Given the description of an element on the screen output the (x, y) to click on. 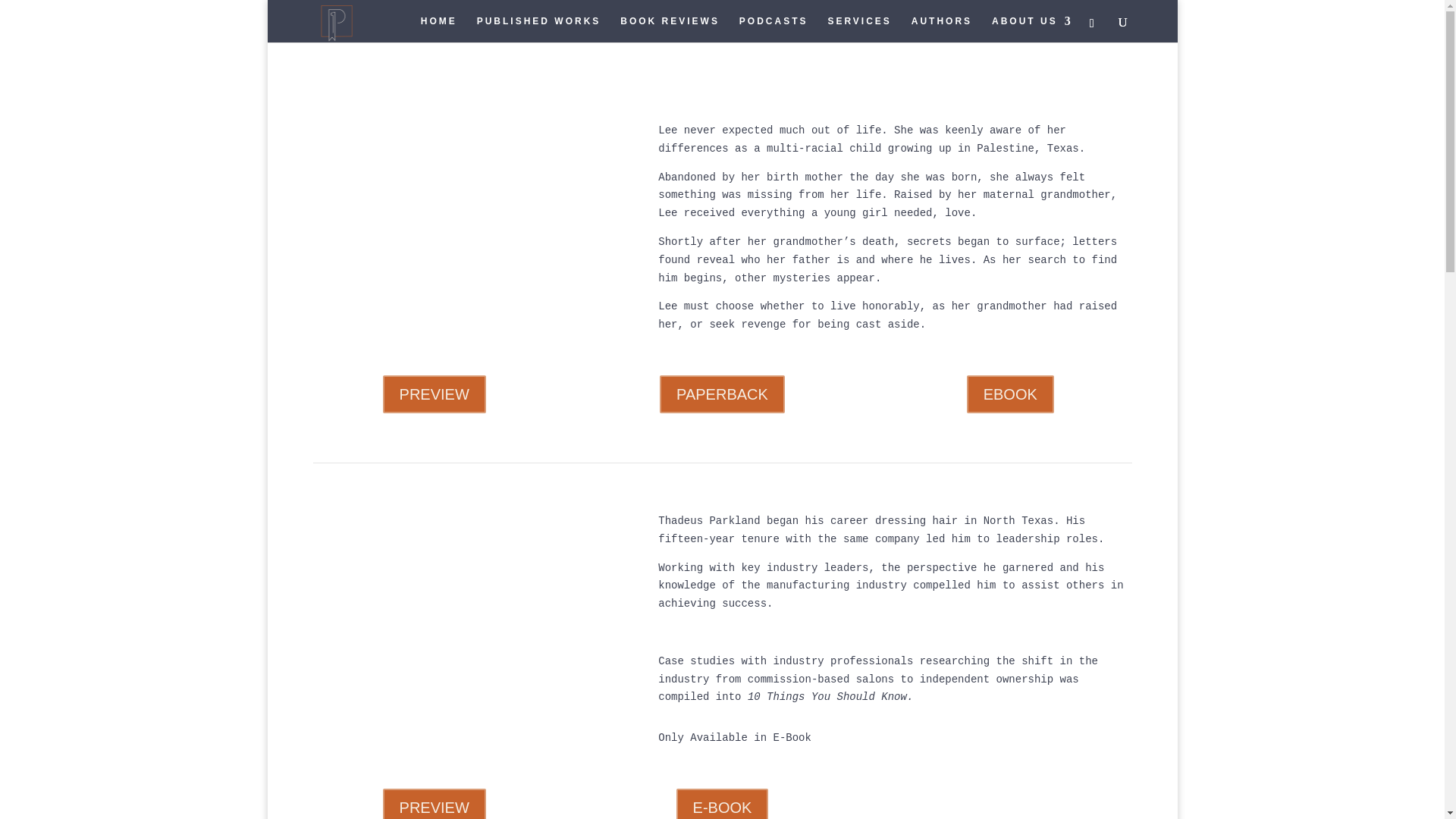
E-BOOK (722, 803)
PREVIEW (434, 394)
EBOOK (1010, 394)
ABOUT US (1032, 28)
SERVICES (859, 28)
PODCASTS (773, 28)
HOME (438, 28)
PREVIEW (434, 803)
BOOK REVIEWS (669, 28)
PUBLISHED WORKS (539, 28)
